Given the description of an element on the screen output the (x, y) to click on. 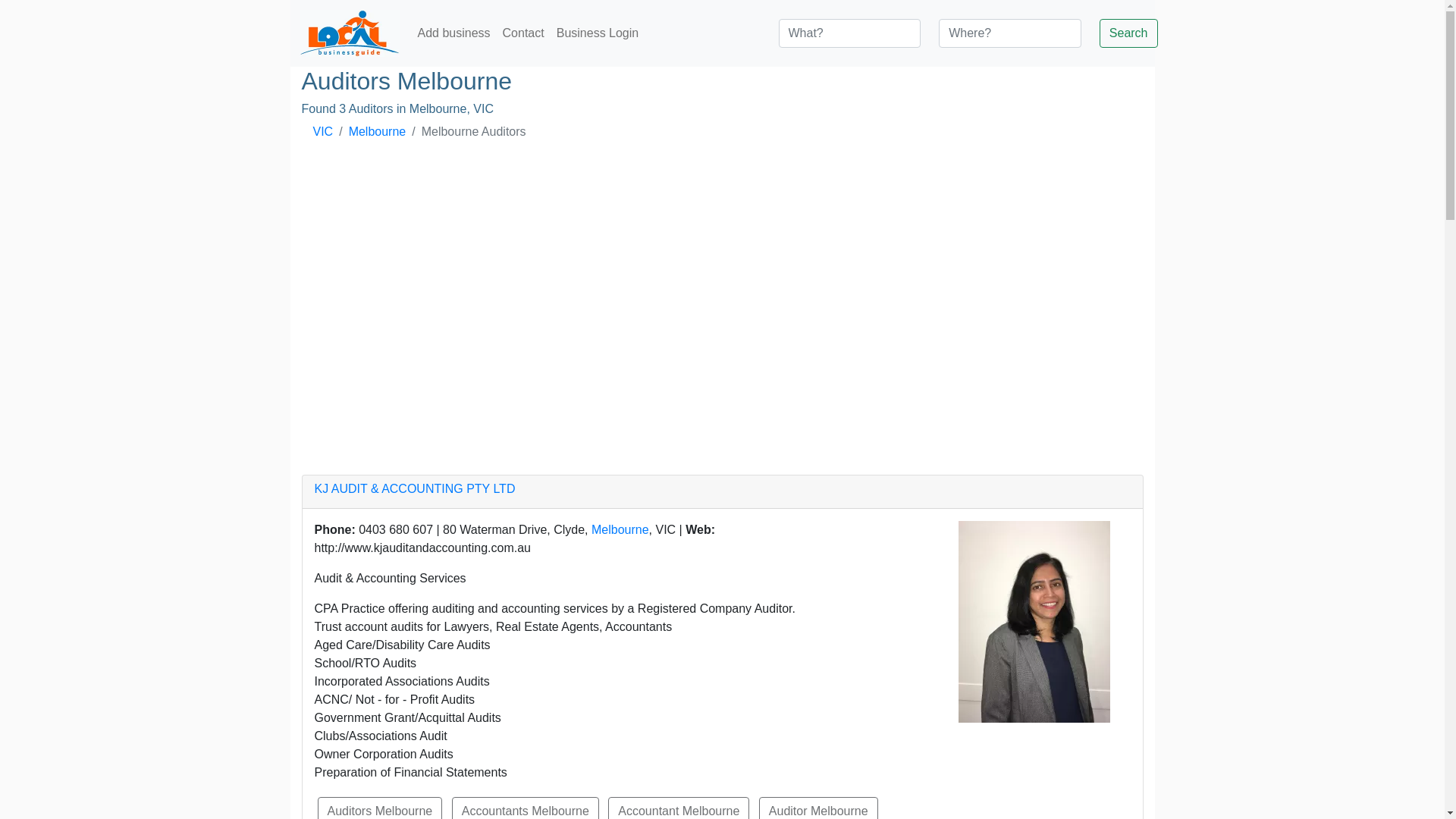
Local Business Guide Free Business Listings Element type: hover (348, 32)
Accountants Melbourne Element type: text (525, 809)
Melbourne Element type: text (620, 529)
KJ AUDIT & ACCOUNTING PTY LTD Element type: text (413, 488)
Search Element type: text (1128, 32)
Accountant Melbourne Element type: text (678, 809)
Contact Element type: text (523, 33)
Melbourne Element type: text (377, 131)
Business Login Element type: text (597, 33)
VIC Element type: text (322, 131)
Add business Element type: text (453, 33)
Auditor Melbourne Element type: text (818, 809)
